Given the description of an element on the screen output the (x, y) to click on. 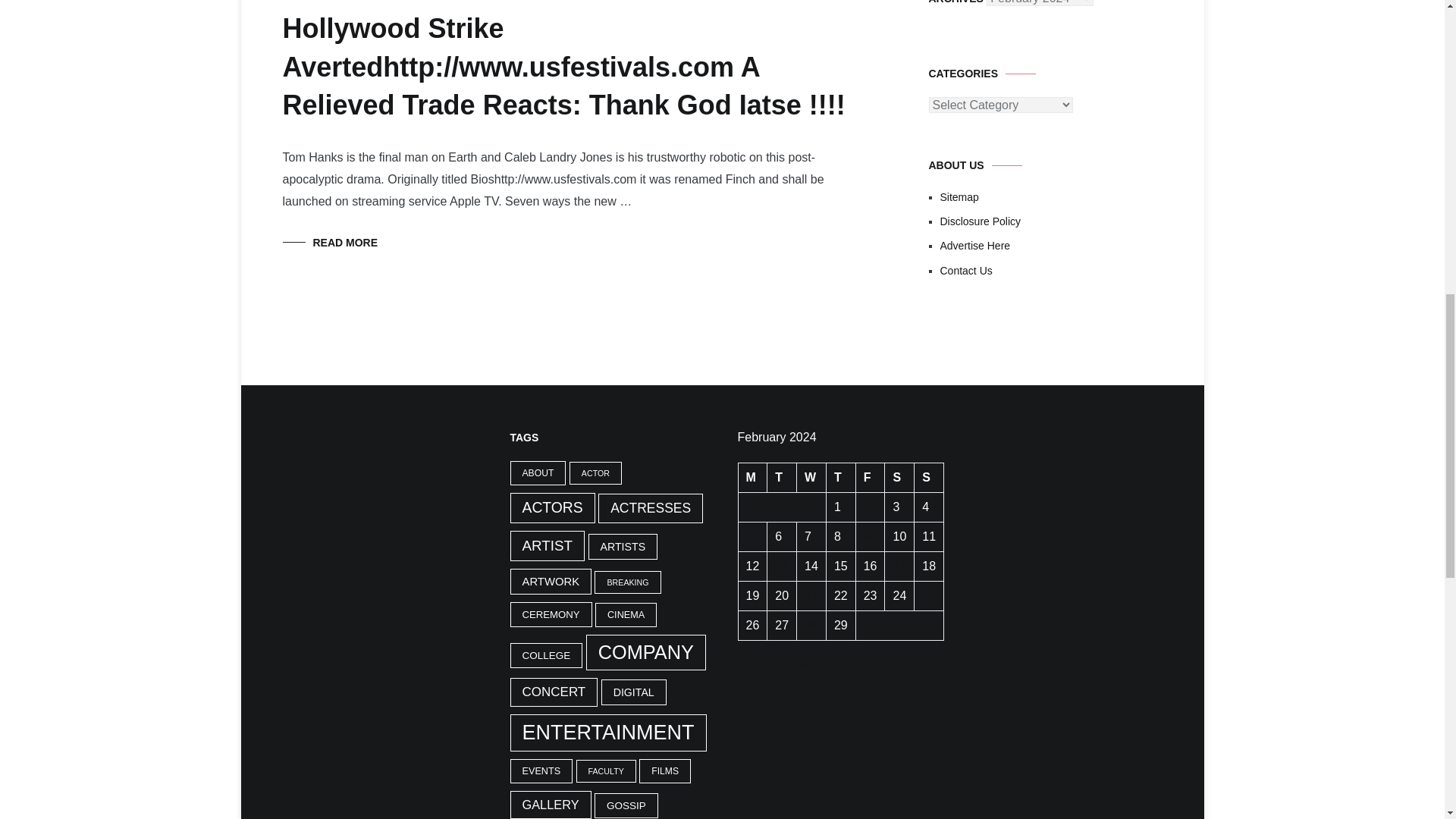
Monday (752, 478)
Thursday (840, 478)
Sunday (928, 478)
Saturday (899, 478)
Tuesday (781, 478)
Friday (870, 478)
Wednesday (811, 478)
